Given the description of an element on the screen output the (x, y) to click on. 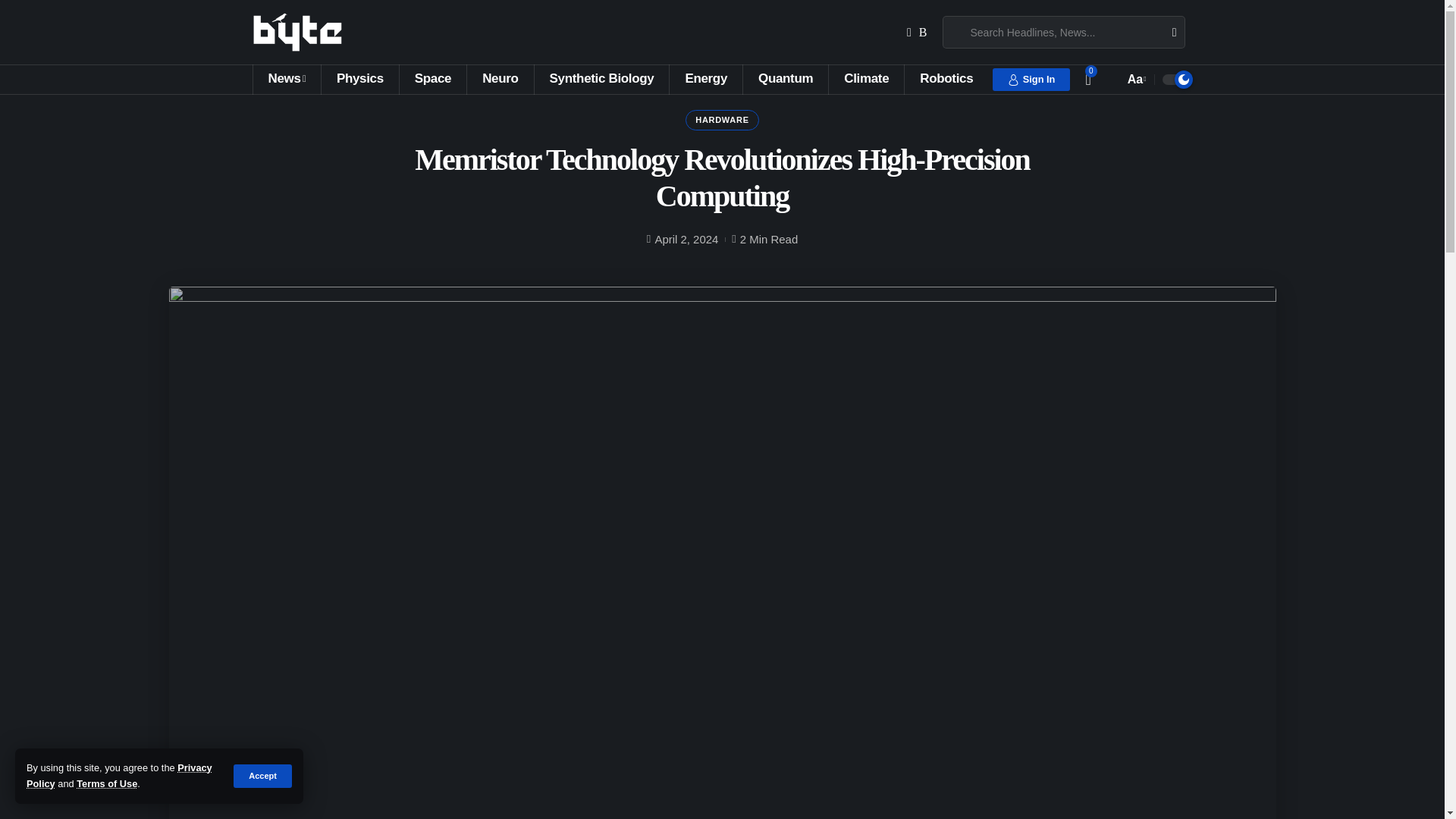
Space (431, 79)
Sign In (1031, 78)
Robotics (946, 79)
Aa (1135, 78)
Climate (866, 79)
Search (1168, 31)
Synthetic Biology (601, 79)
Accept (262, 775)
Quantum (785, 79)
Energy (705, 79)
